Given the description of an element on the screen output the (x, y) to click on. 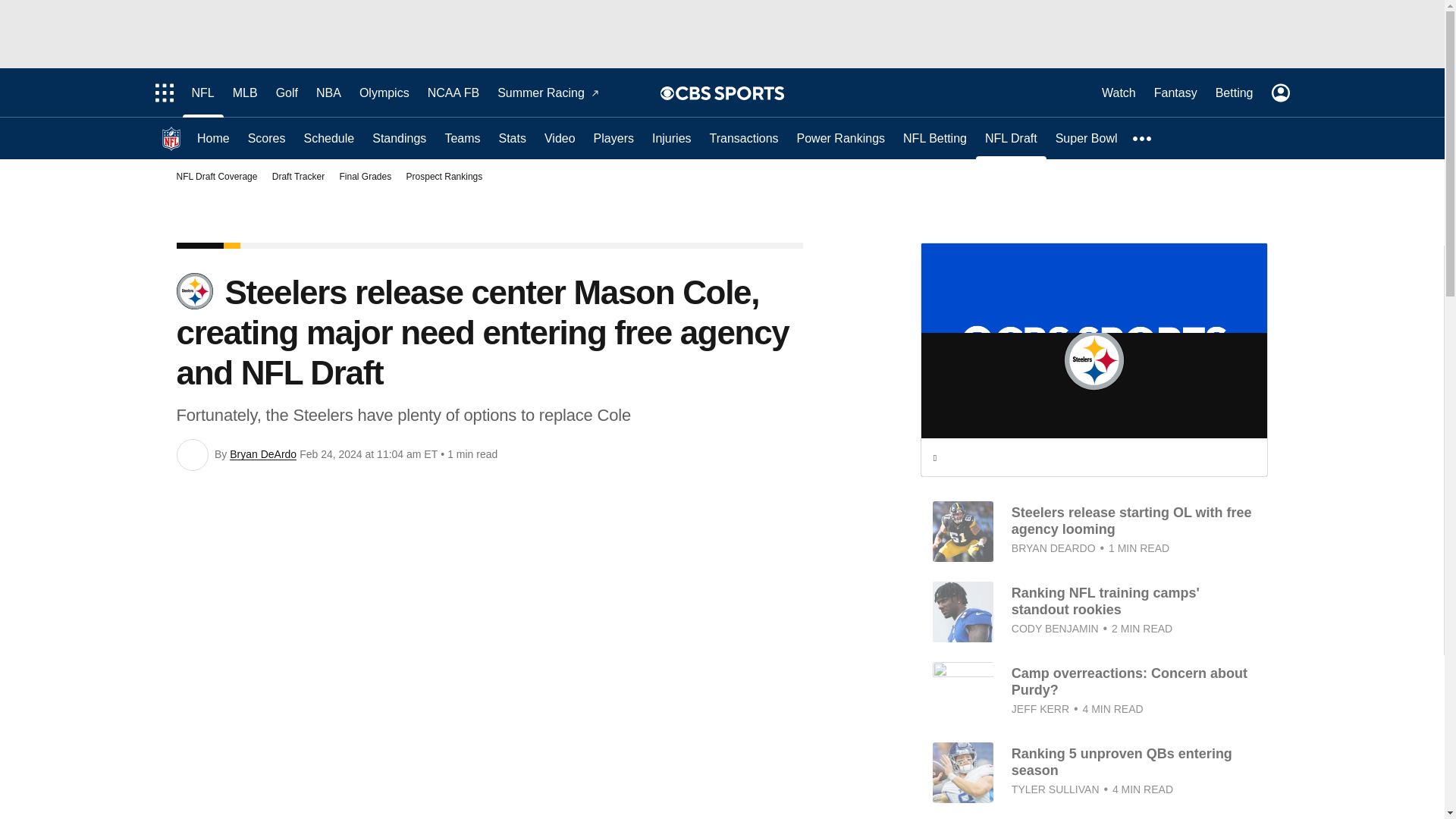
CBS Eye (667, 92)
CBS Logo (729, 92)
